Given the description of an element on the screen output the (x, y) to click on. 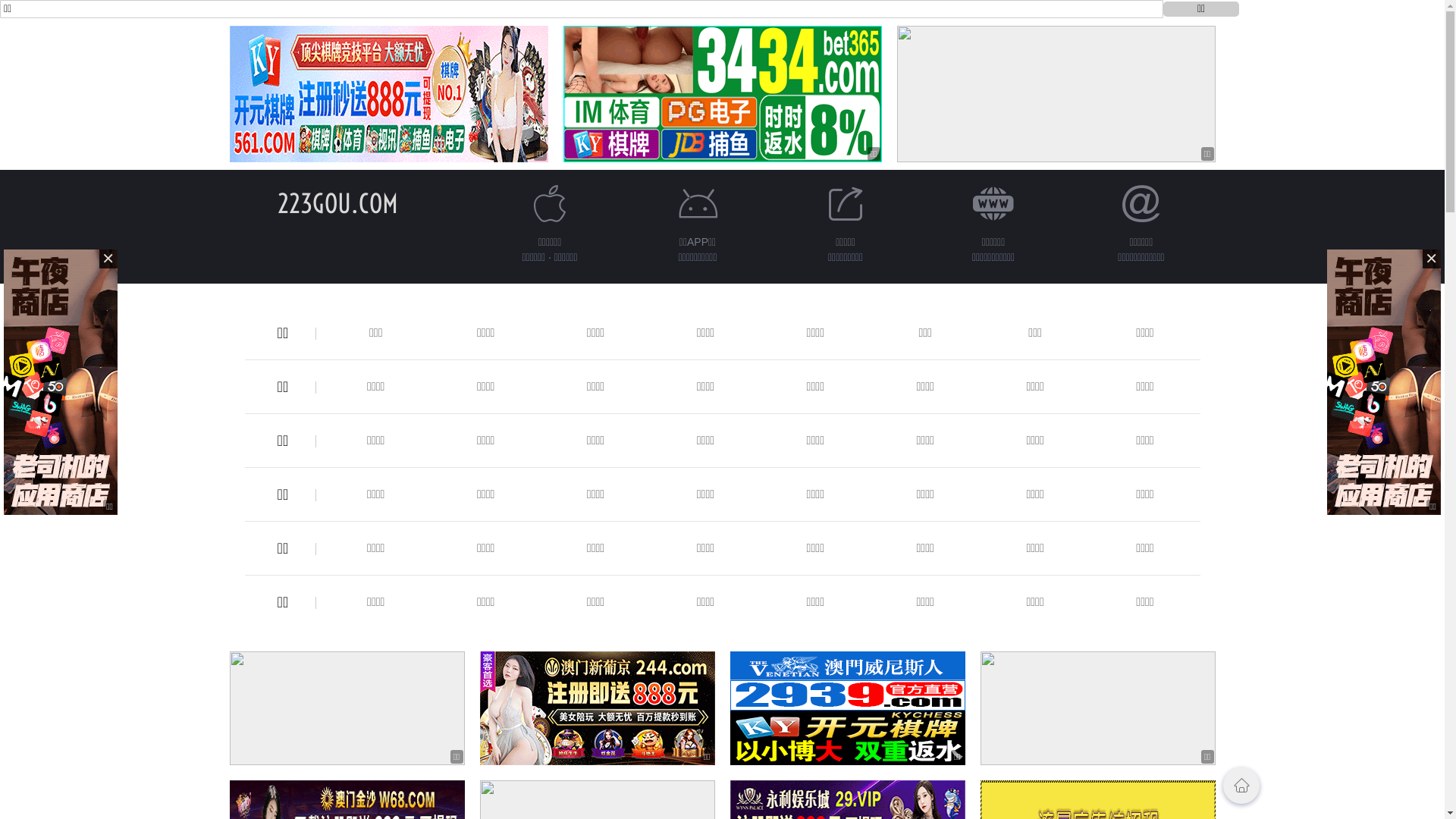
223GOU.COM Element type: text (337, 203)
